Given the description of an element on the screen output the (x, y) to click on. 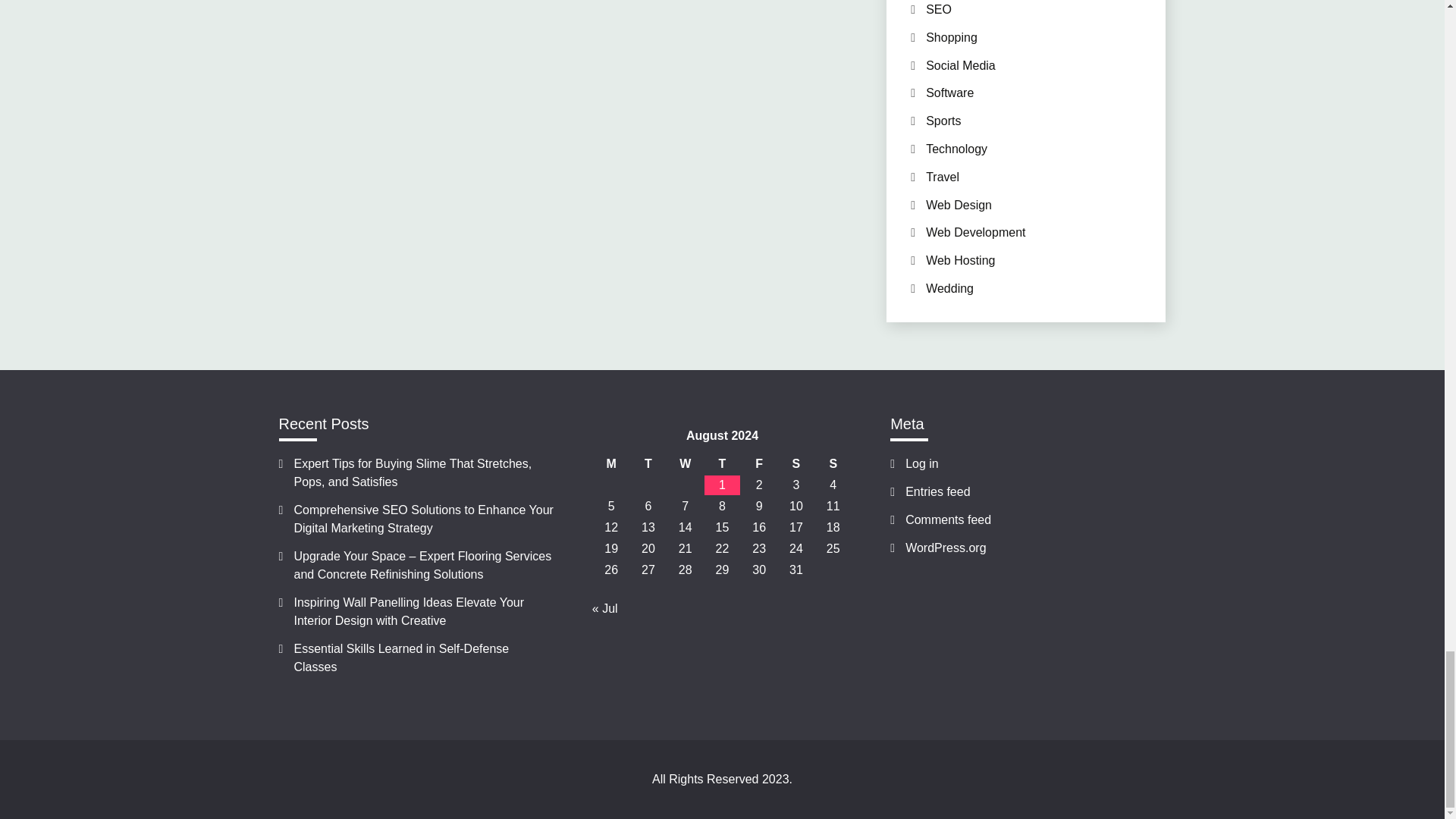
Saturday (795, 464)
Monday (611, 464)
Friday (759, 464)
Sunday (832, 464)
Tuesday (648, 464)
Wednesday (684, 464)
Thursday (721, 464)
